Given the description of an element on the screen output the (x, y) to click on. 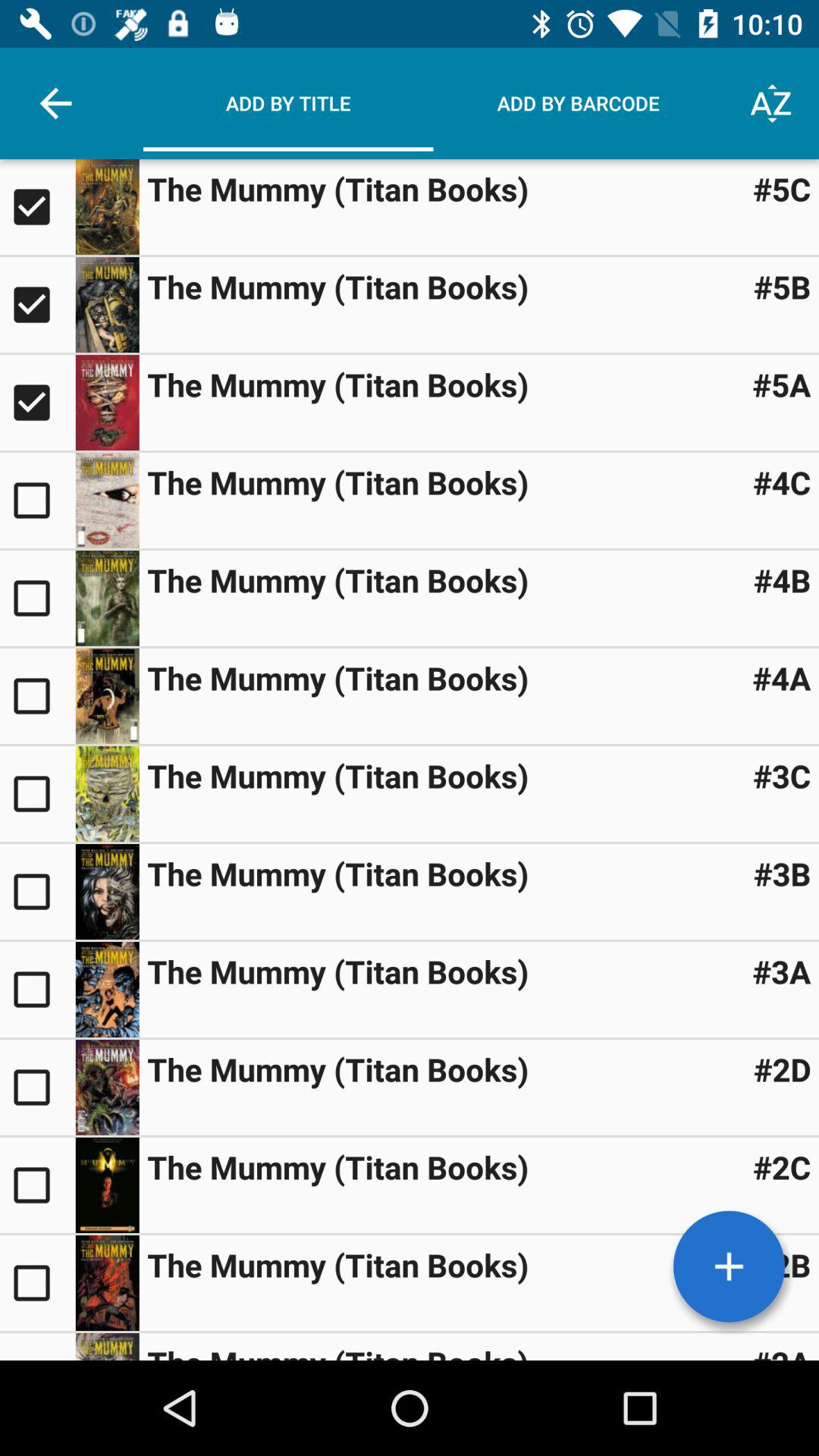
book select checkbox (37, 206)
